Given the description of an element on the screen output the (x, y) to click on. 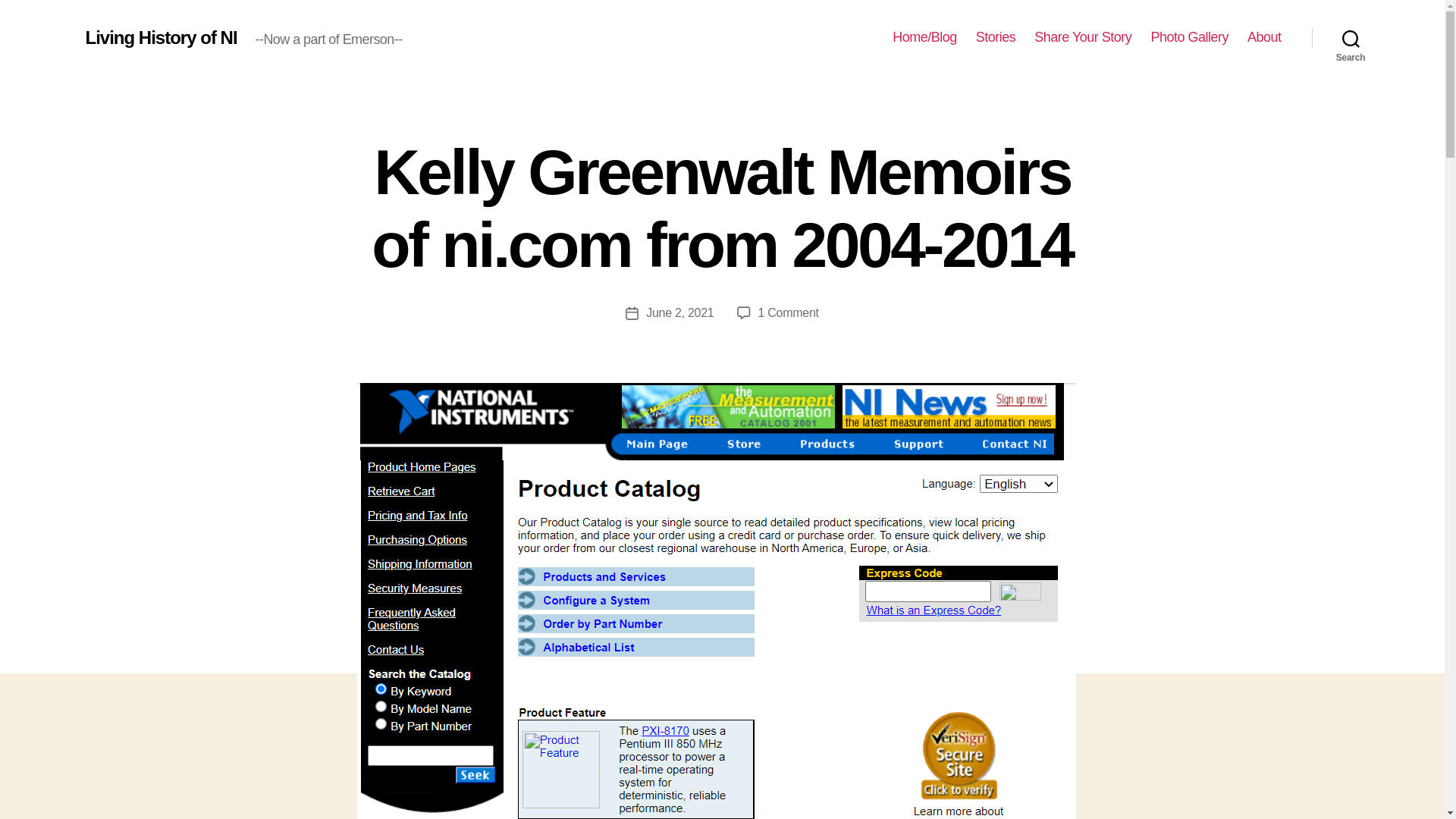
Stories (995, 37)
About (1264, 37)
Share Your Story (1082, 37)
June 2, 2021 (679, 312)
Search (1350, 37)
Living History of NI (159, 37)
Photo Gallery (1189, 37)
